Given the description of an element on the screen output the (x, y) to click on. 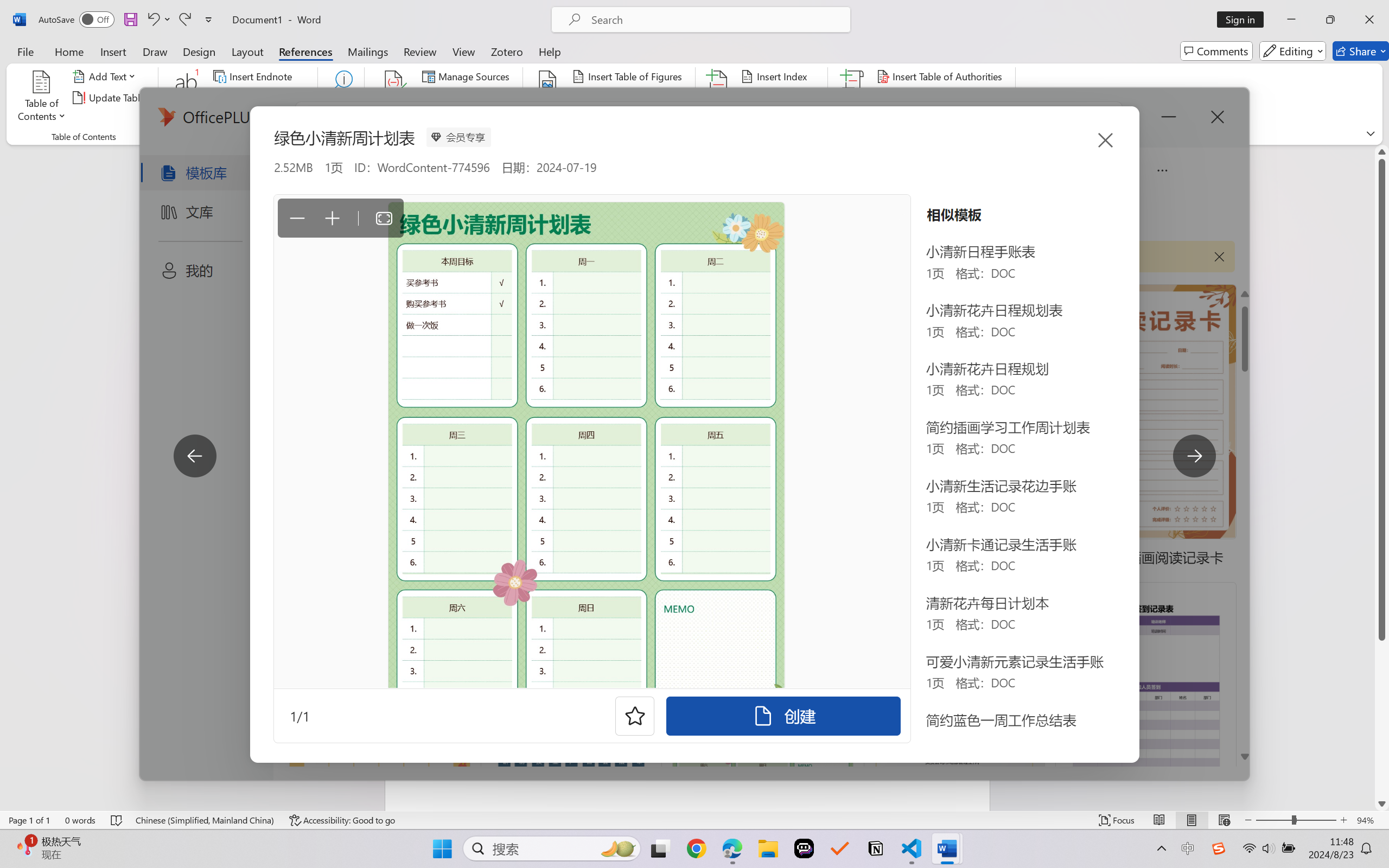
Style (488, 97)
Redo Apply Quick Style (184, 19)
Footnote and Endnote Dialog... (311, 136)
Insert Citation (393, 97)
Line up (1382, 151)
